Given the description of an element on the screen output the (x, y) to click on. 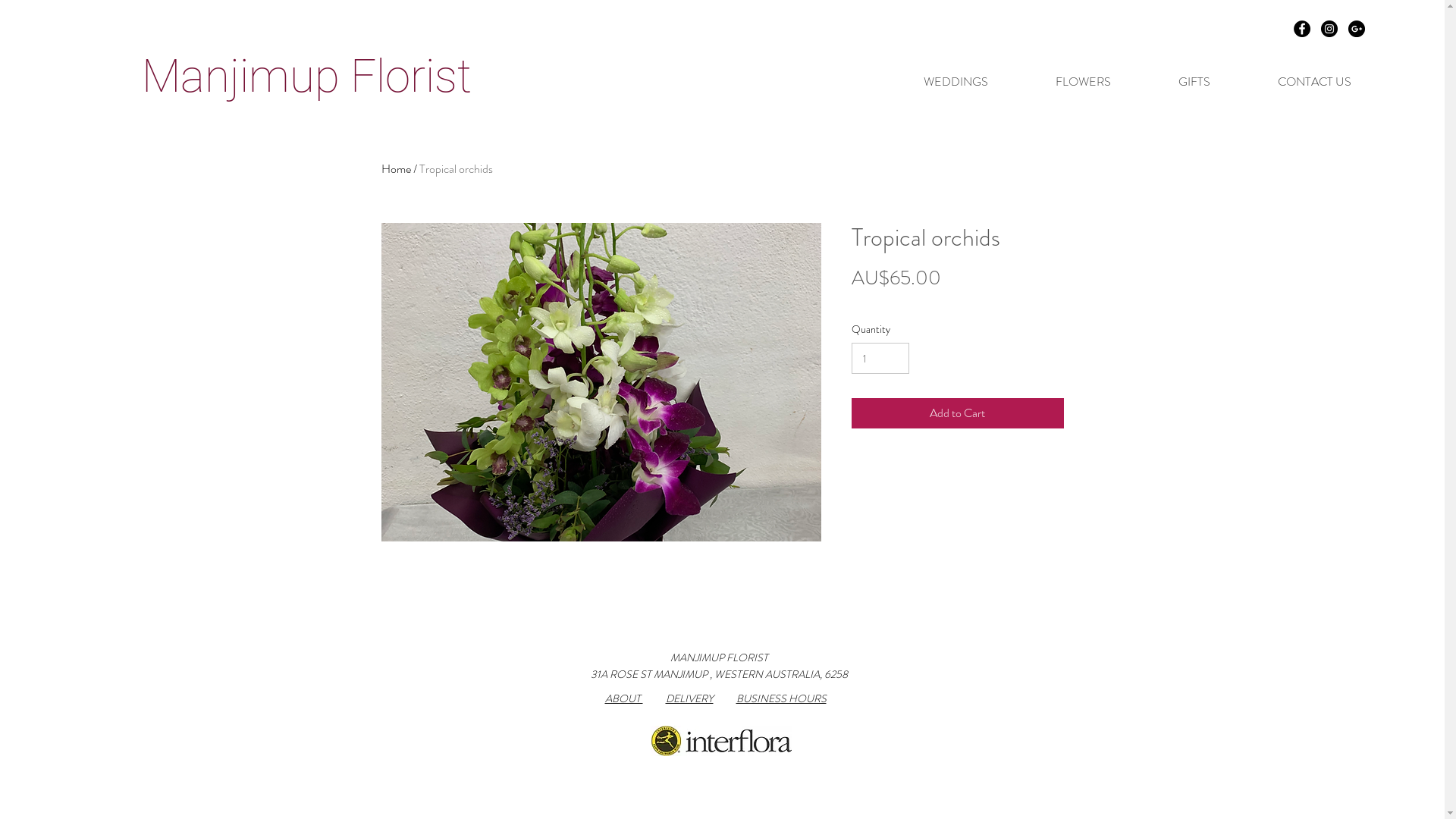
Add to Cart Element type: text (956, 413)
CONTACT US Element type: text (1313, 81)
DELIVERY Element type: text (689, 699)
Manjimup Florist Element type: text (306, 76)
Tropical orchids Element type: text (455, 168)
WEDDINGS Element type: text (955, 81)
FLOWERS Element type: text (1082, 81)
Home Element type: text (395, 168)
BUSINESS HOURS Element type: text (780, 699)
GIFTS Element type: text (1193, 81)
